Given the description of an element on the screen output the (x, y) to click on. 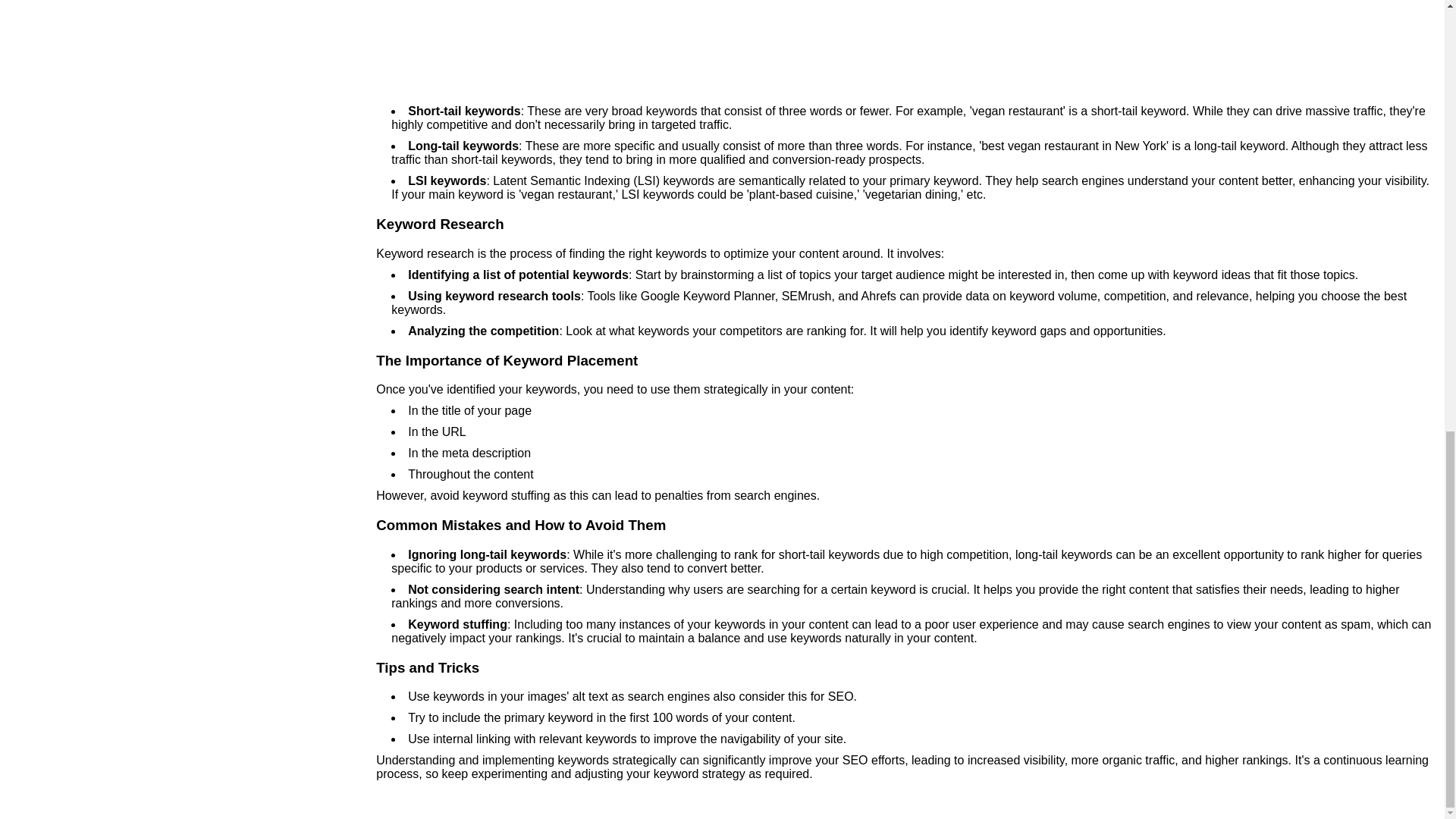
Spot Quiz (906, 43)
